Given the description of an element on the screen output the (x, y) to click on. 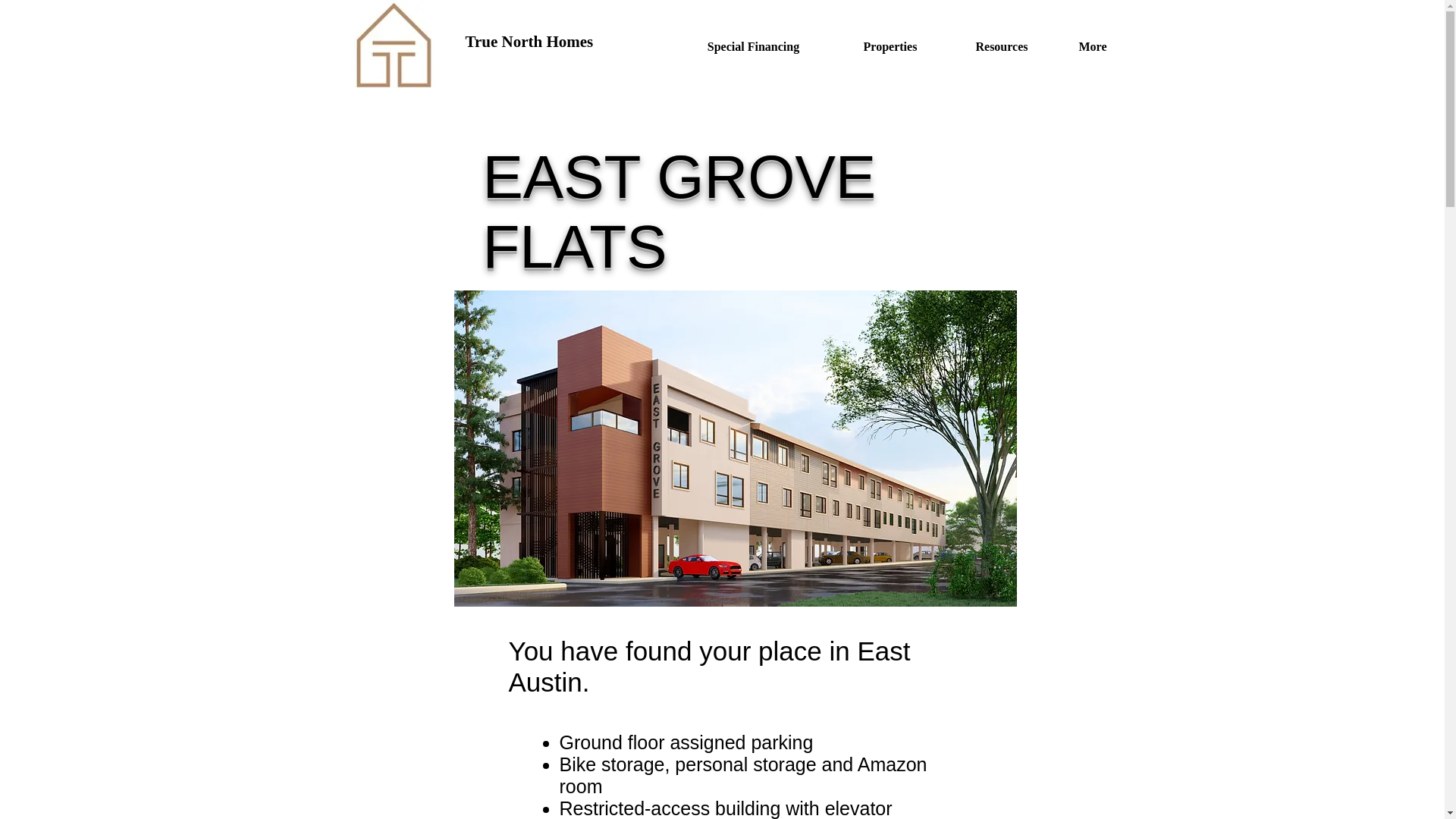
Properties (889, 46)
Resources (1002, 46)
Special Financing (752, 46)
